Given the description of an element on the screen output the (x, y) to click on. 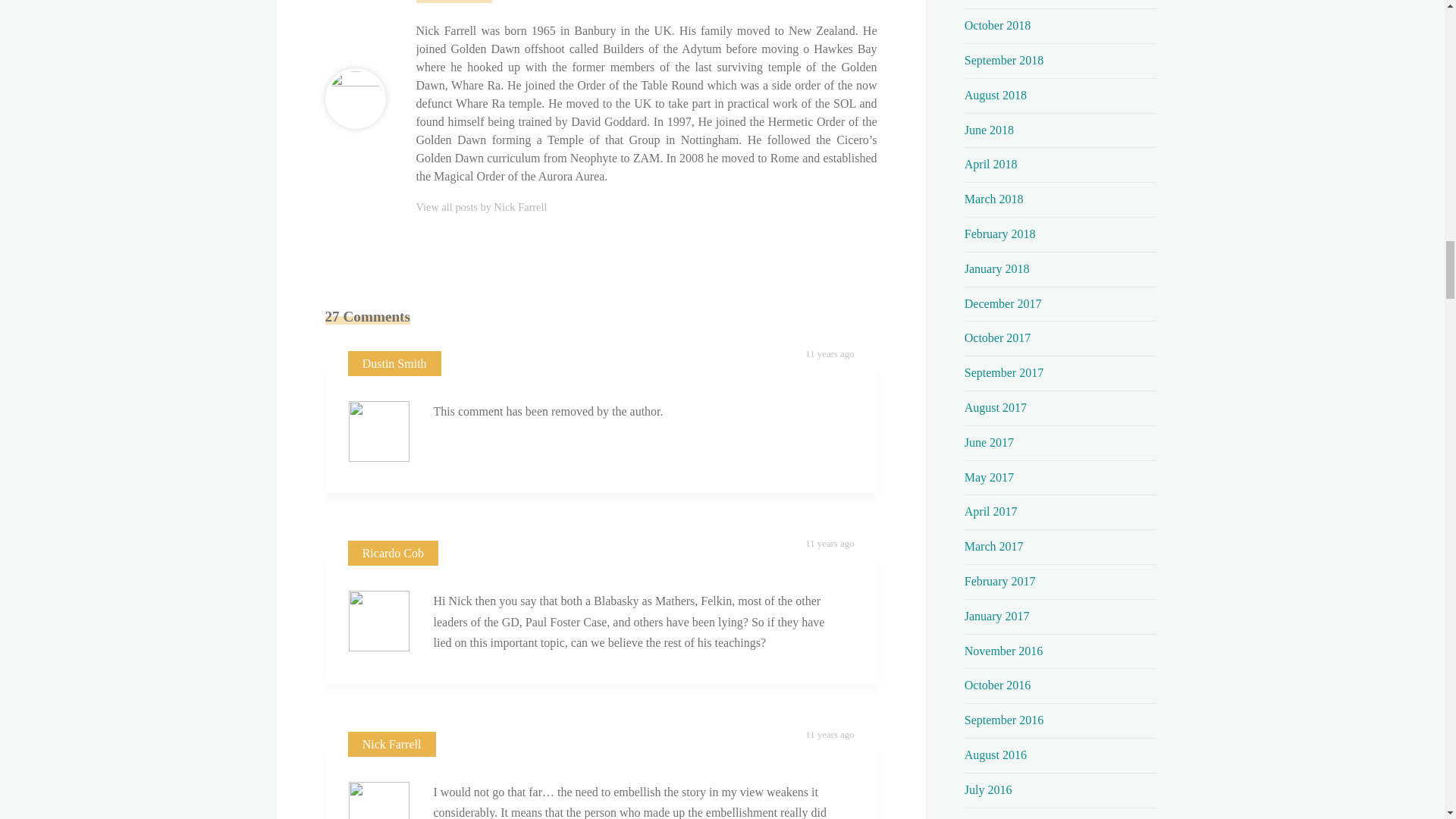
Dustin Smith (394, 363)
View all posts by Nick Farrell (480, 206)
Nick Farrell (392, 744)
11 years ago (829, 353)
11 years ago (829, 734)
11 years ago (829, 543)
Ricardo Cob (392, 553)
